Given the description of an element on the screen output the (x, y) to click on. 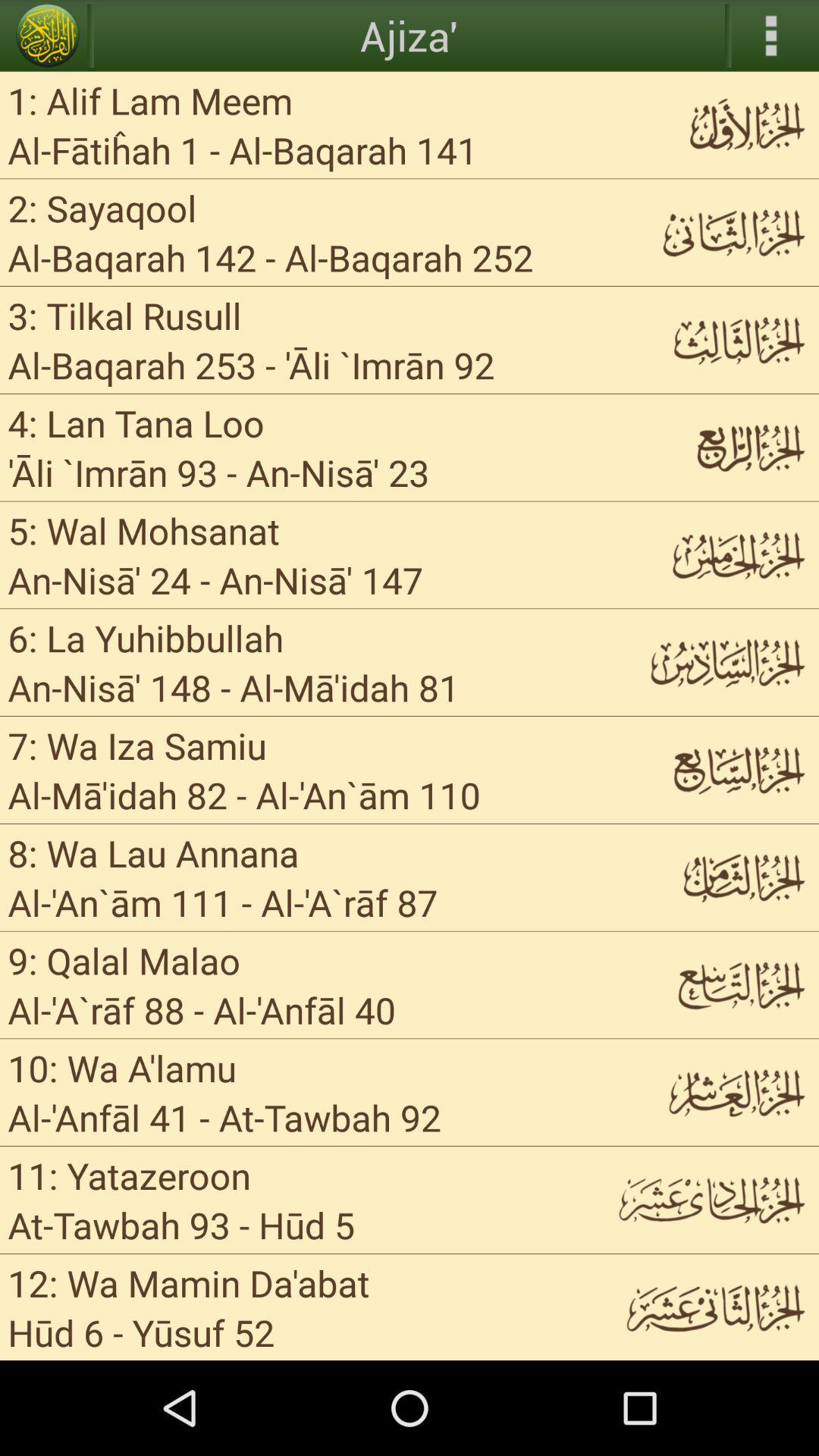
turn on the icon below al baqarah 253 app (135, 422)
